Given the description of an element on the screen output the (x, y) to click on. 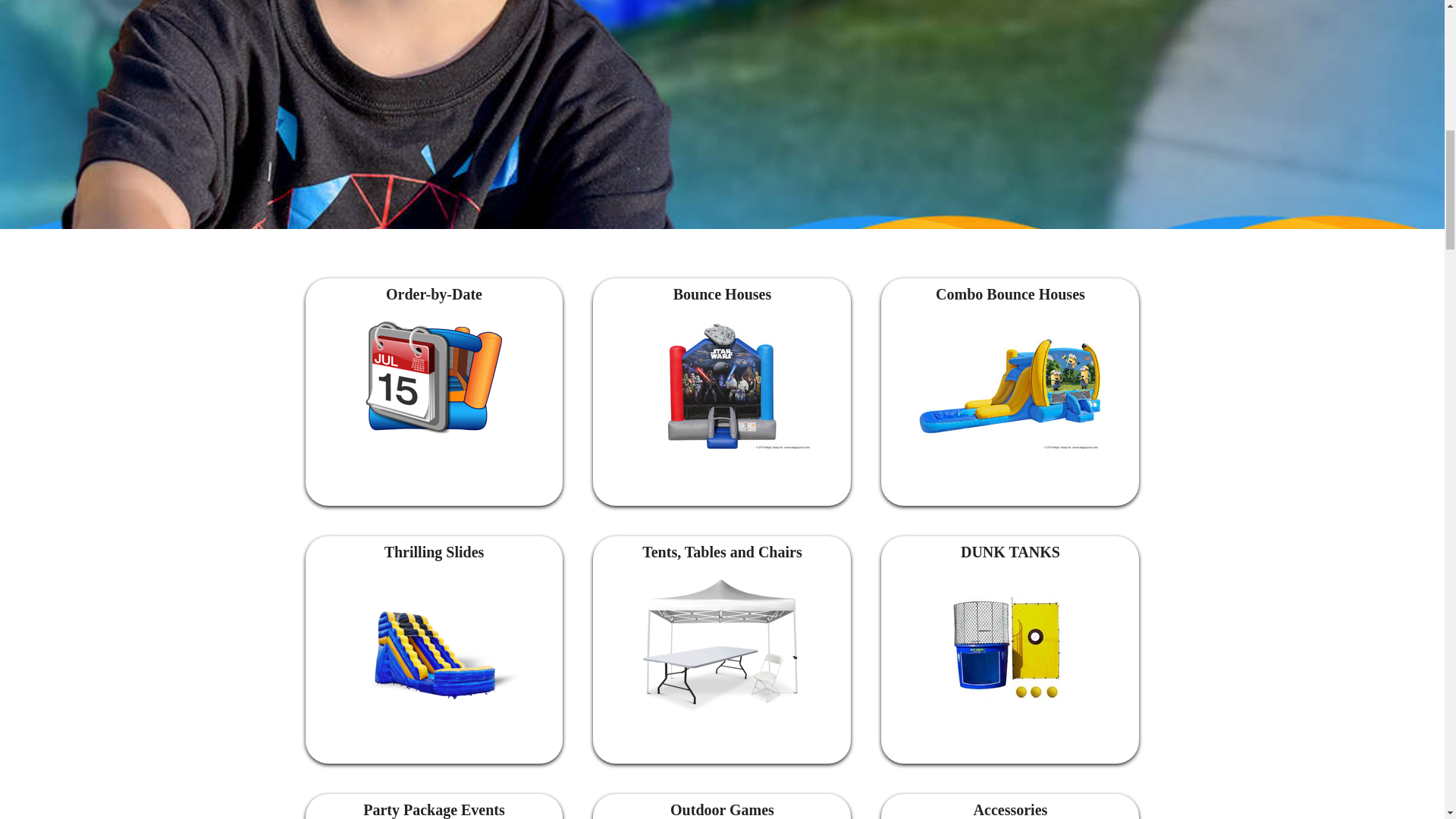
Order-by-Date (433, 377)
DUNK TANKS (1010, 647)
Bounce Houses (721, 386)
Tents, Tables and Chairs (721, 647)
Combo Bounce Houses (1009, 386)
Thrilling Slides (433, 647)
